Given the description of an element on the screen output the (x, y) to click on. 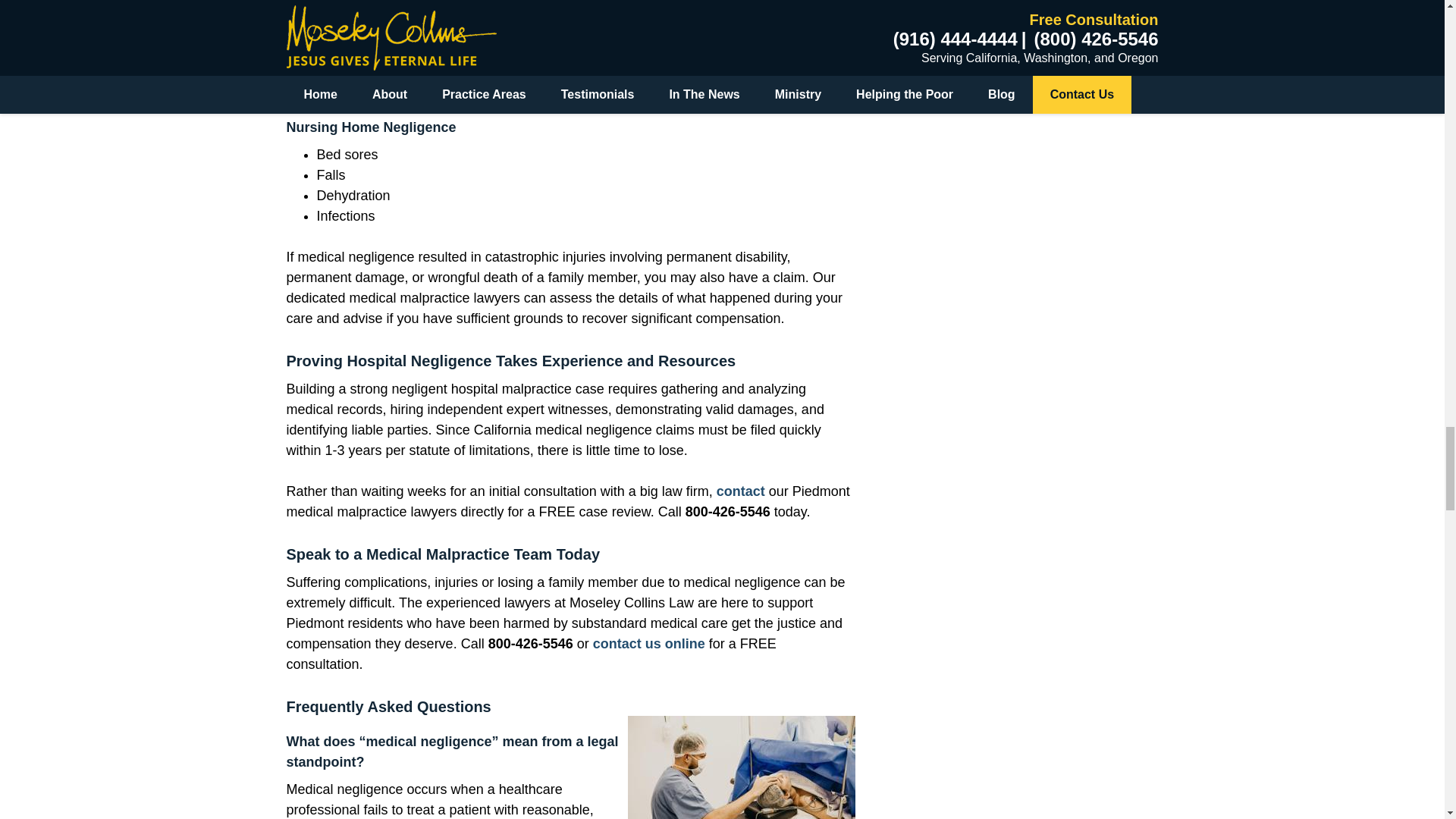
contact (740, 491)
contact us online (648, 643)
